Given the description of an element on the screen output the (x, y) to click on. 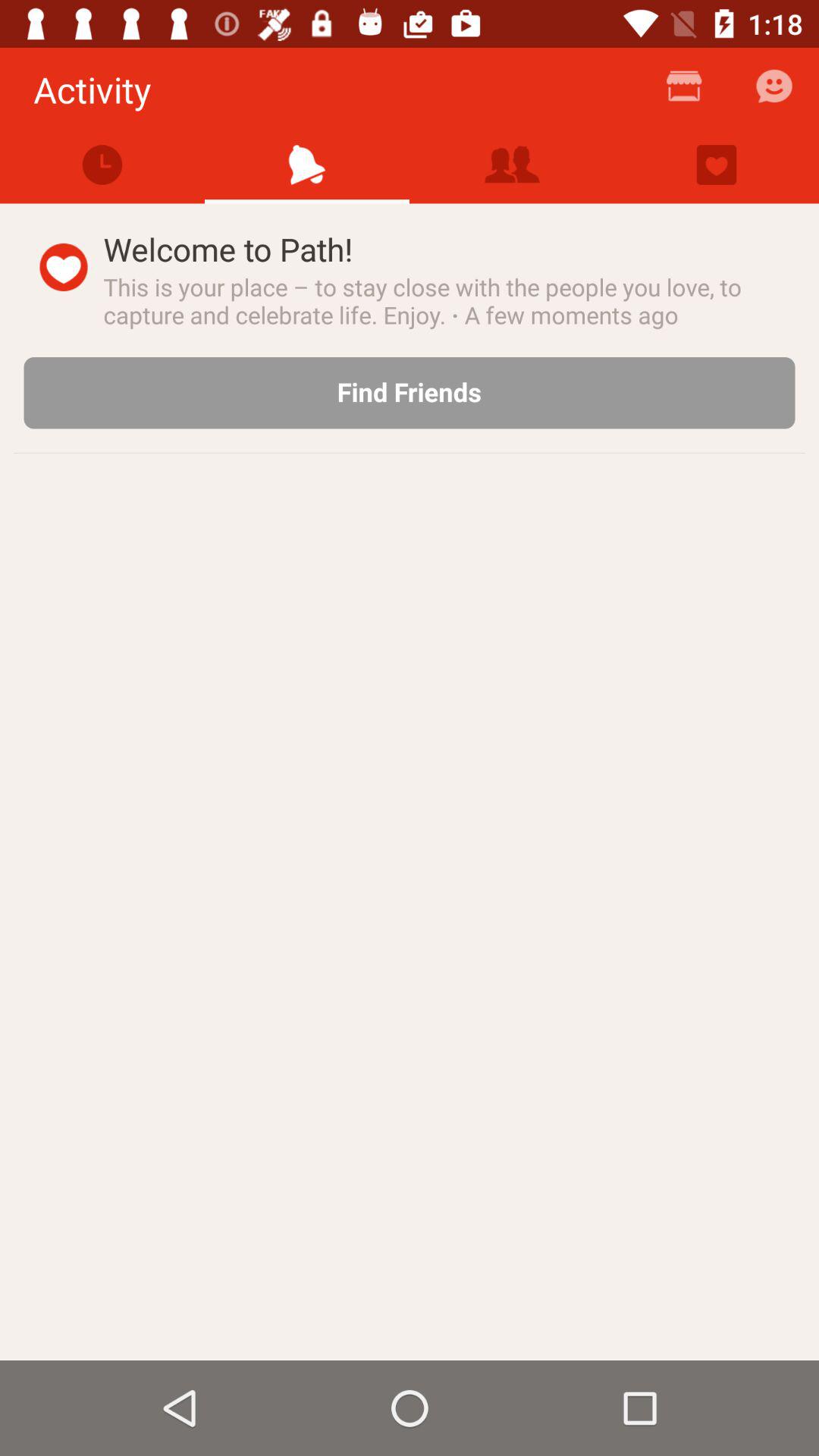
click the find friends icon (409, 392)
